Given the description of an element on the screen output the (x, y) to click on. 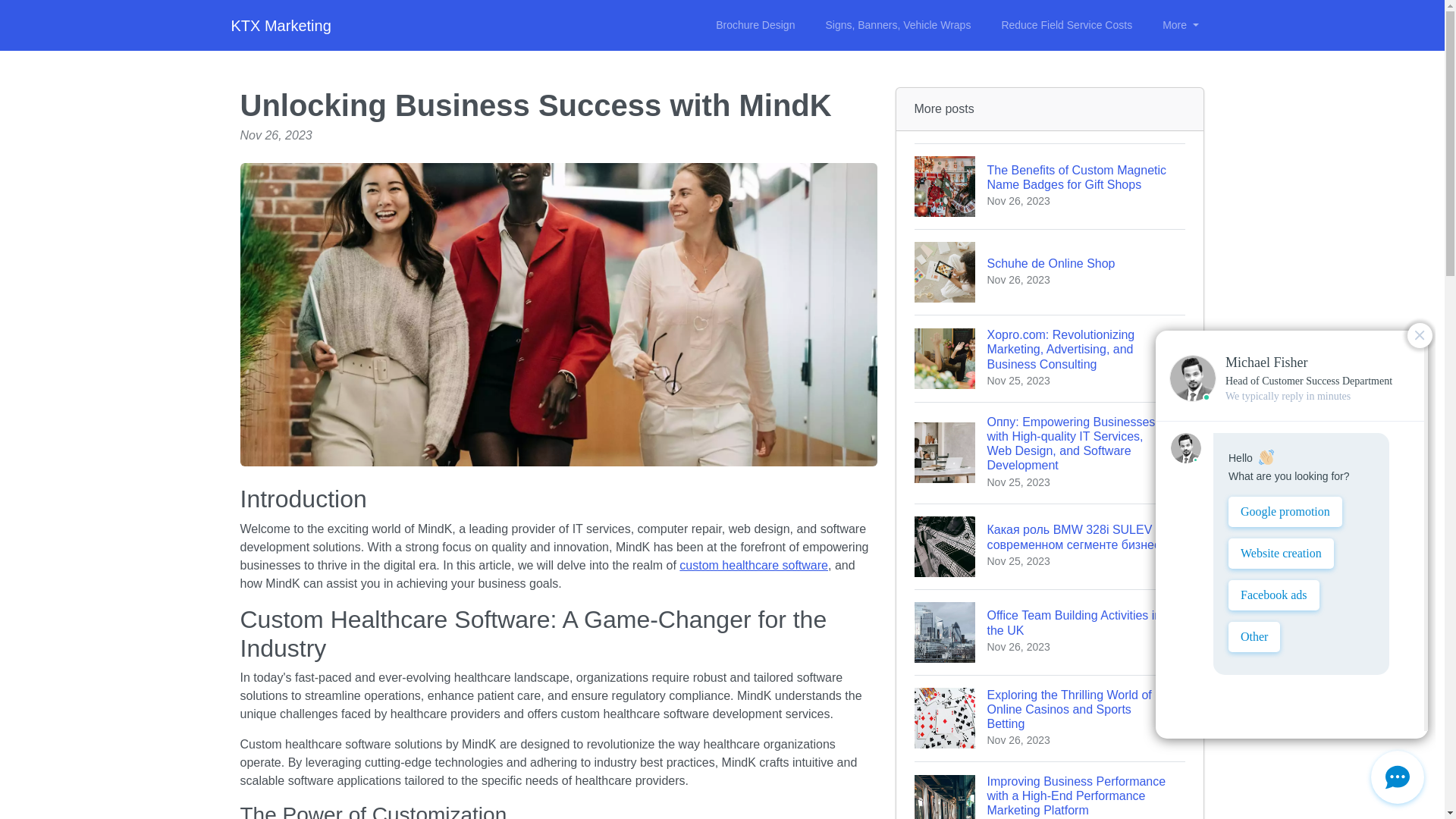
KTX Marketing (1050, 271)
Brochure Design (280, 25)
Signs, Banners, Vehicle Wraps (754, 25)
Reduce Field Service Costs (897, 25)
custom healthcare software (1066, 25)
More (753, 564)
